Given the description of an element on the screen output the (x, y) to click on. 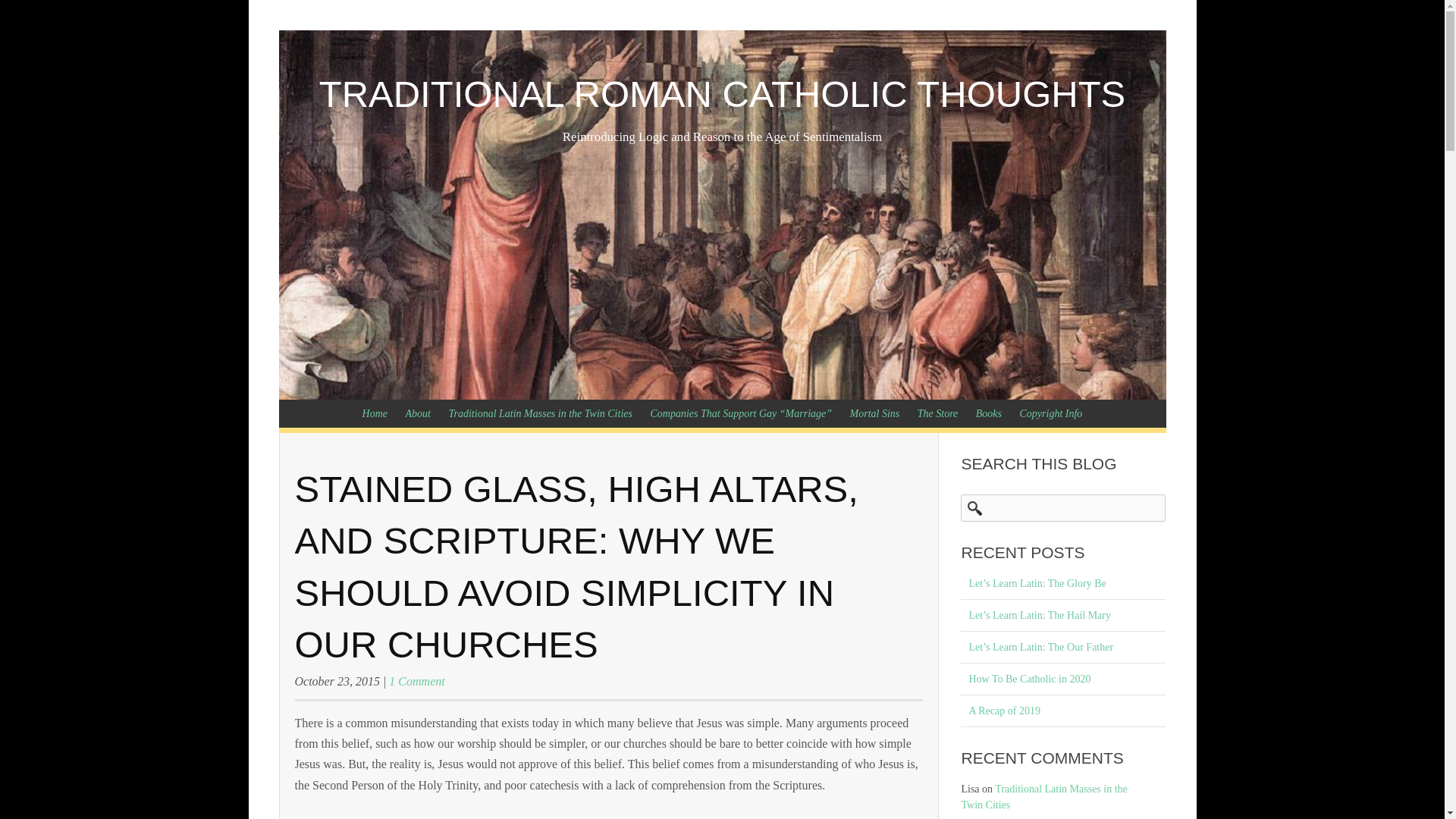
Traditional Latin Masses in the Twin Cities (540, 413)
Home (374, 413)
1 Comment (416, 680)
Search (24, 13)
How To Be Catholic in 2020 (1063, 679)
Mortal Sins (875, 413)
The Store (938, 413)
Copyright Info (1050, 413)
TRADITIONAL ROMAN CATHOLIC THOUGHTS (721, 93)
About (417, 413)
2015-10-23T07:00:27-0500 (336, 680)
Books (988, 413)
Traditional Roman Catholic Thoughts (721, 93)
